Given the description of an element on the screen output the (x, y) to click on. 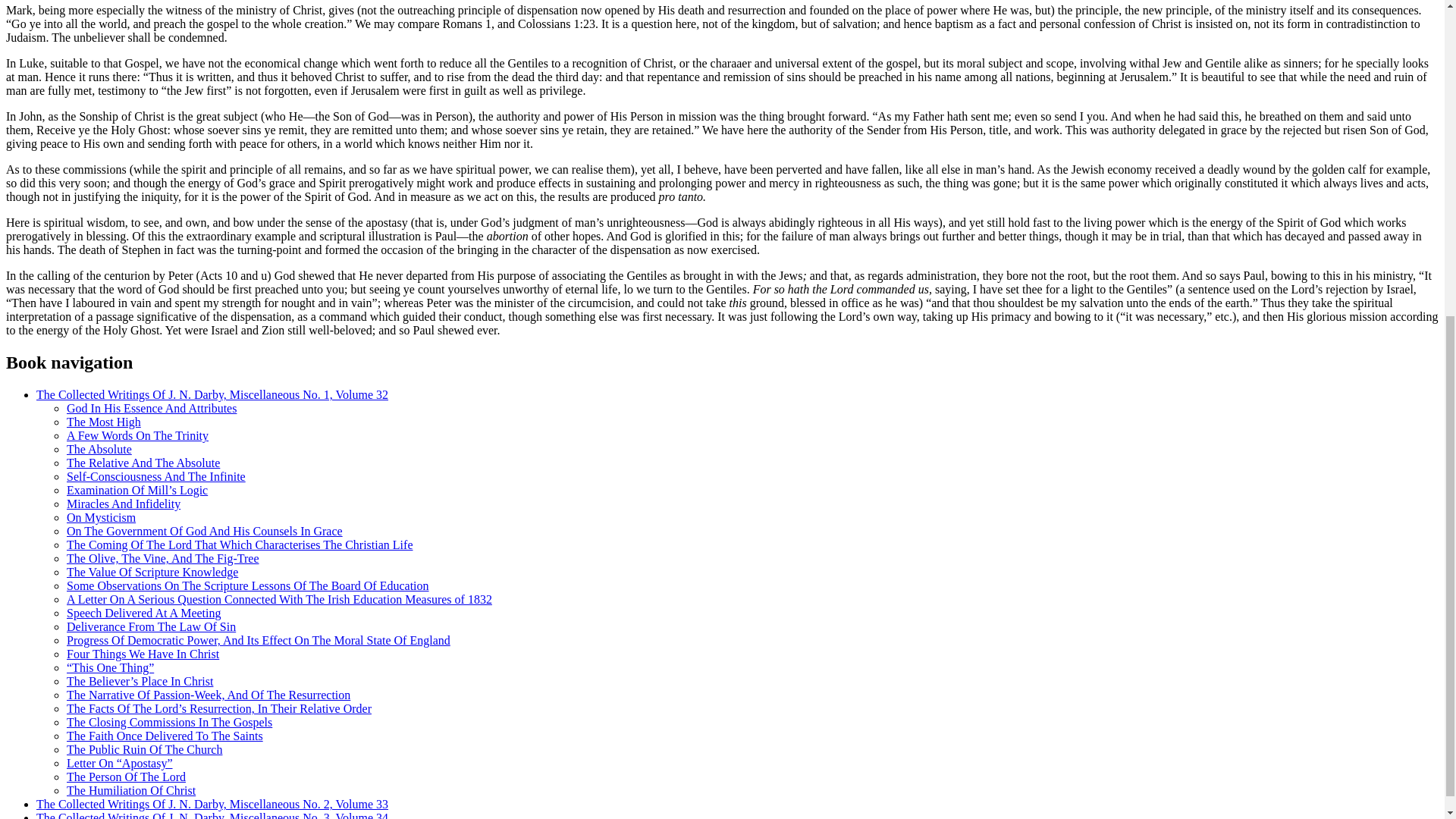
Speech Delivered At A Meeting (143, 612)
The Narrative Of Passion-Week, And Of The Resurrection (208, 694)
Miracles And Infidelity (123, 503)
On Mysticism (100, 517)
The Olive, The Vine, And The Fig-Tree (162, 558)
Self-Consciousness And The Infinite (156, 476)
Deliverance From The Law Of Sin (150, 626)
The Value Of Scripture Knowledge (152, 571)
A Few Words On The Trinity (137, 435)
God In His Essence And Attributes (150, 408)
On The Government Of God And His Counsels In Grace (204, 530)
The Most High (103, 421)
